Given the description of an element on the screen output the (x, y) to click on. 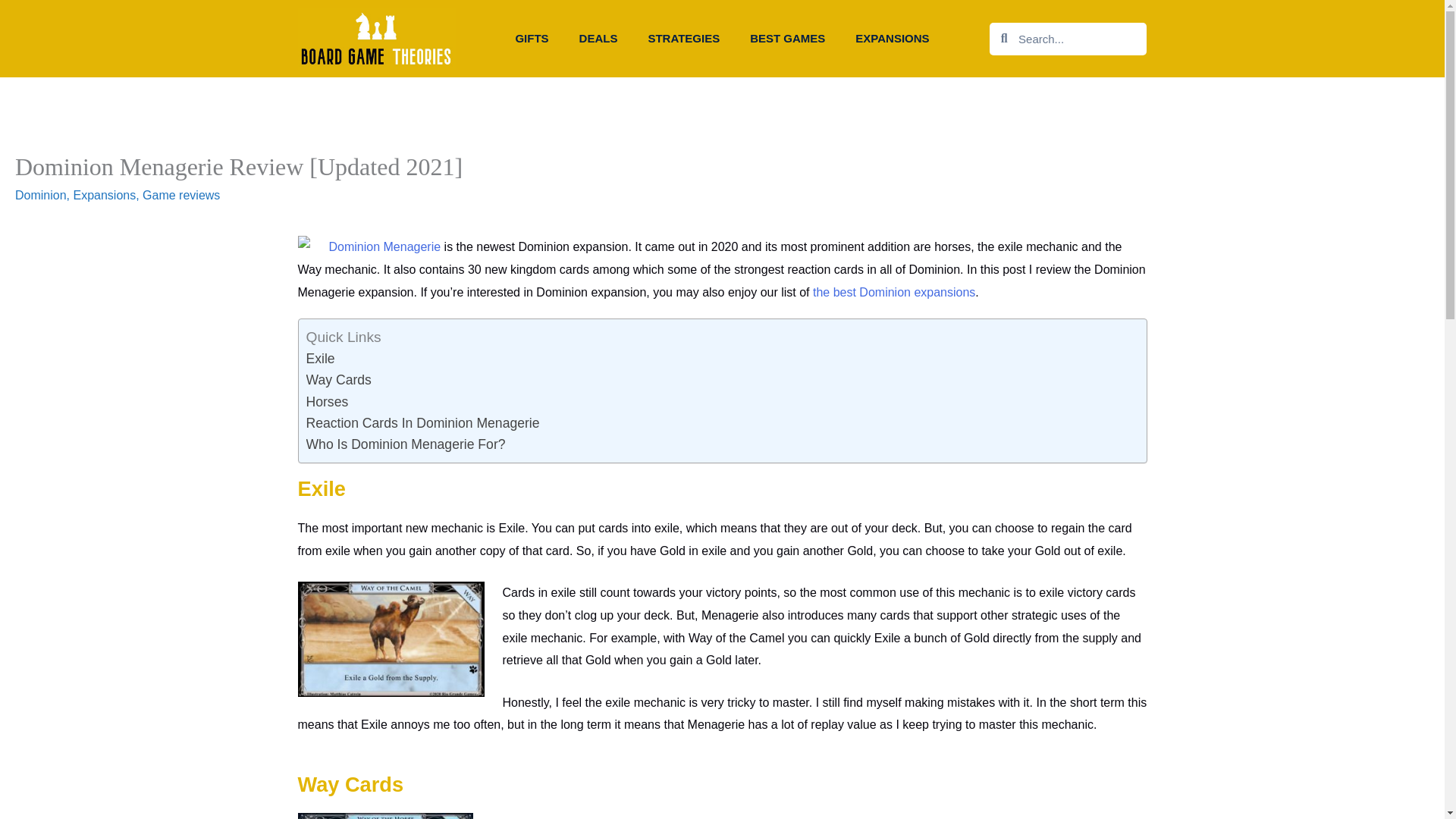
BEST GAMES (787, 38)
STRATEGIES (683, 38)
Way Cards (338, 379)
Reaction Cards In Dominion Menagerie (422, 422)
GIFTS (531, 38)
DEALS (598, 38)
Search (1077, 38)
Who Is Dominion Menagerie For? (405, 444)
Exile (319, 358)
Horses (327, 401)
EXPANSIONS (891, 38)
